Given the description of an element on the screen output the (x, y) to click on. 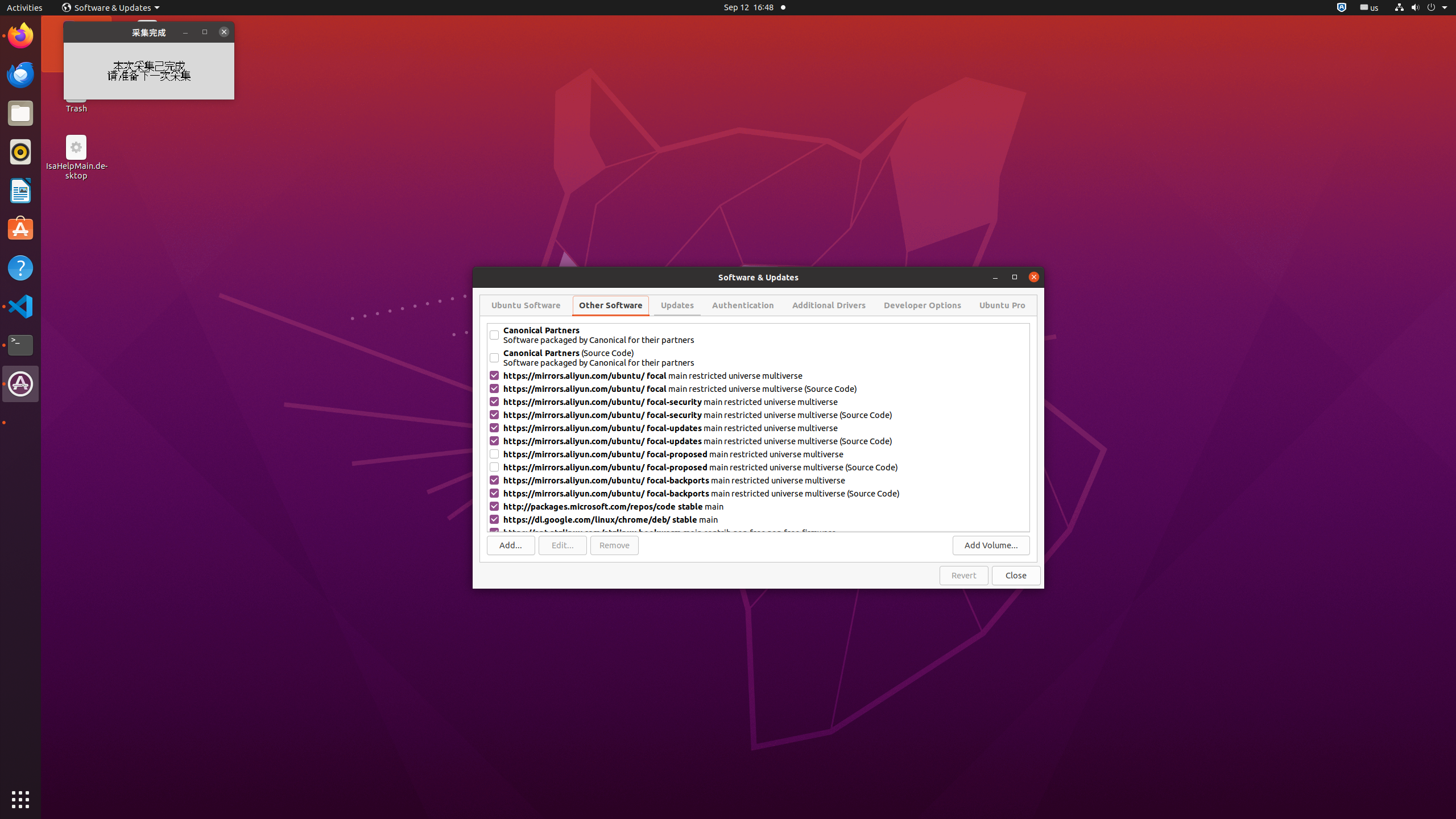
li.txt Element type: label (146, 50)
https://mirrors.aliyun.com/ubuntu/ focal main restricted universe multiverse Element type: table-cell (765, 375)
Software & Updates Element type: menu (110, 7)
https://mirrors.aliyun.com/ubuntu/ focal-security main restricted universe multiverse (Source Code) Element type: table-cell (765, 414)
